Given the description of an element on the screen output the (x, y) to click on. 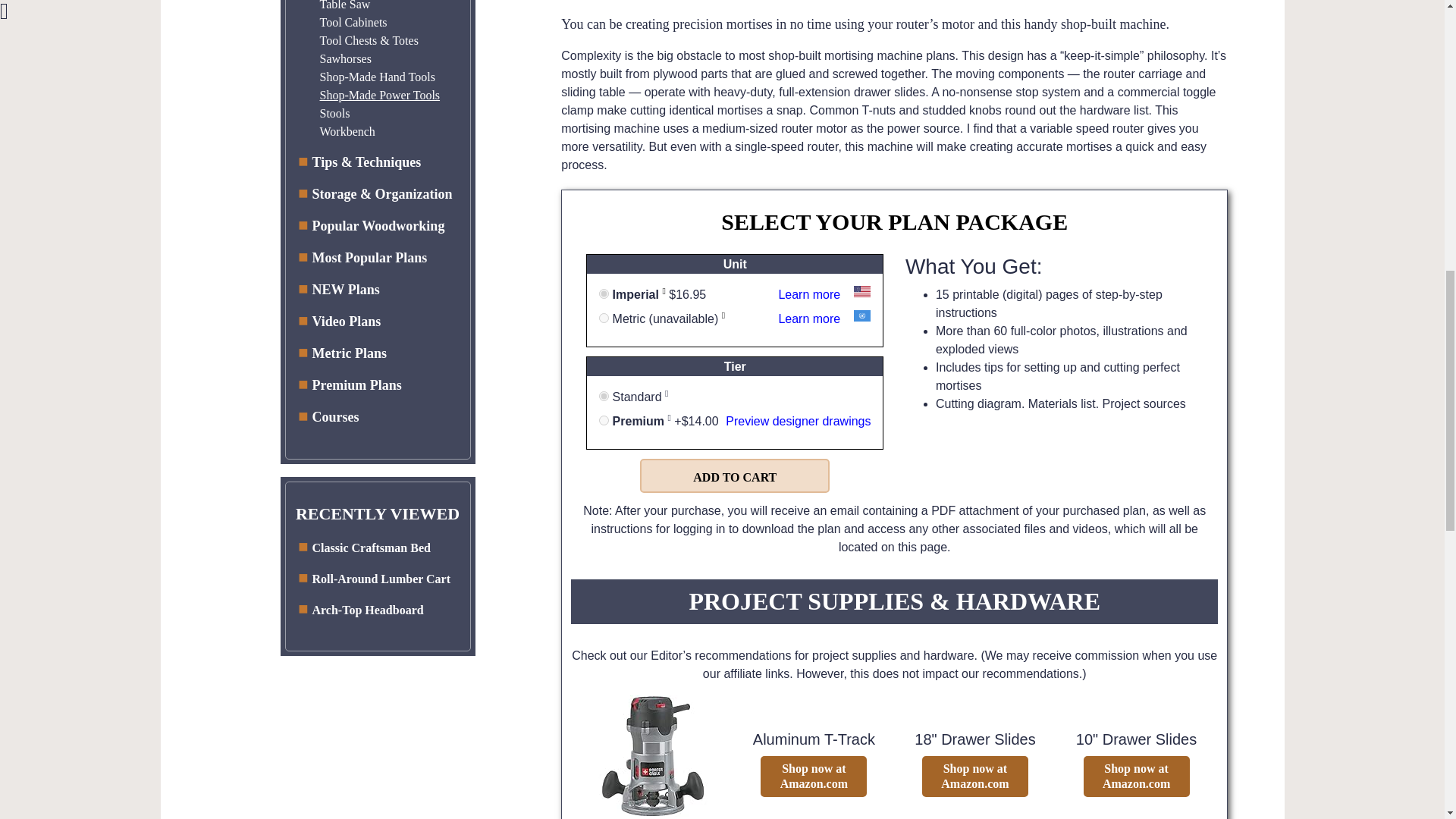
standard (603, 396)
si (603, 317)
premium (603, 420)
uscs (603, 293)
